Given the description of an element on the screen output the (x, y) to click on. 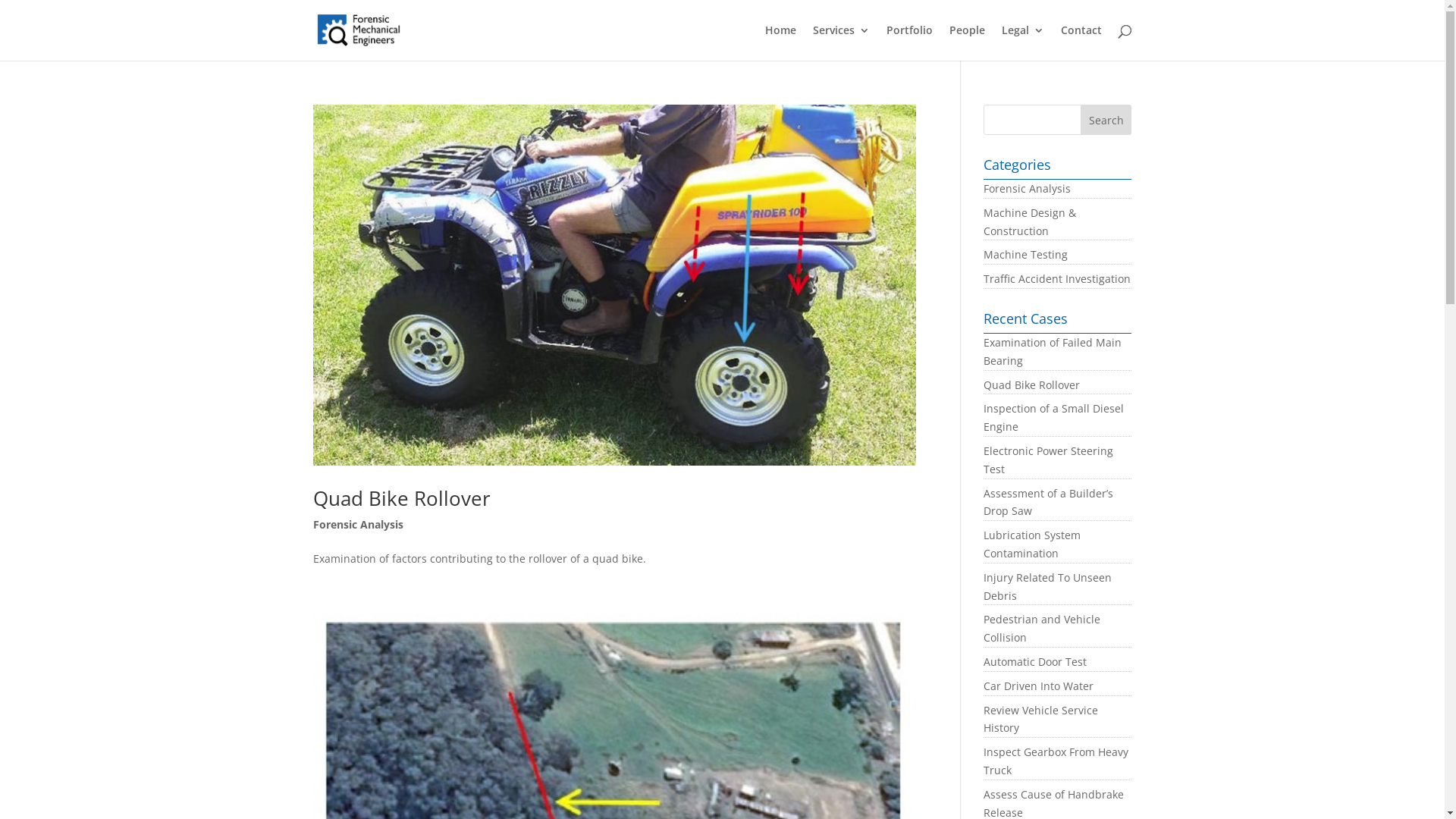
Services Element type: text (840, 42)
Forensic Analysis Element type: text (357, 524)
Forensic Analysis Element type: text (1026, 188)
Injury Related To Unseen Debris Element type: text (1047, 586)
People Element type: text (967, 42)
Legal Element type: text (1022, 42)
Quad Bike Rollover Element type: text (1031, 384)
Review Vehicle Service History Element type: text (1040, 718)
Inspect Gearbox From Heavy Truck Element type: text (1055, 760)
Home Element type: text (779, 42)
Inspection of a Small Diesel Engine Element type: text (1053, 417)
Car Driven Into Water Element type: text (1038, 685)
Automatic Door Test Element type: text (1034, 661)
Electronic Power Steering Test Element type: text (1048, 459)
Machine Testing Element type: text (1025, 254)
Search Element type: text (1106, 119)
Contact Element type: text (1080, 42)
Examination of Failed Main Bearing Element type: text (1052, 351)
Traffic Accident Investigation Element type: text (1056, 278)
Portfolio Element type: text (908, 42)
Pedestrian and Vehicle Collision Element type: text (1041, 627)
Quad Bike Rollover Element type: text (400, 497)
Lubrication System Contamination Element type: text (1031, 543)
Machine Design & Construction Element type: text (1029, 221)
